Given the description of an element on the screen output the (x, y) to click on. 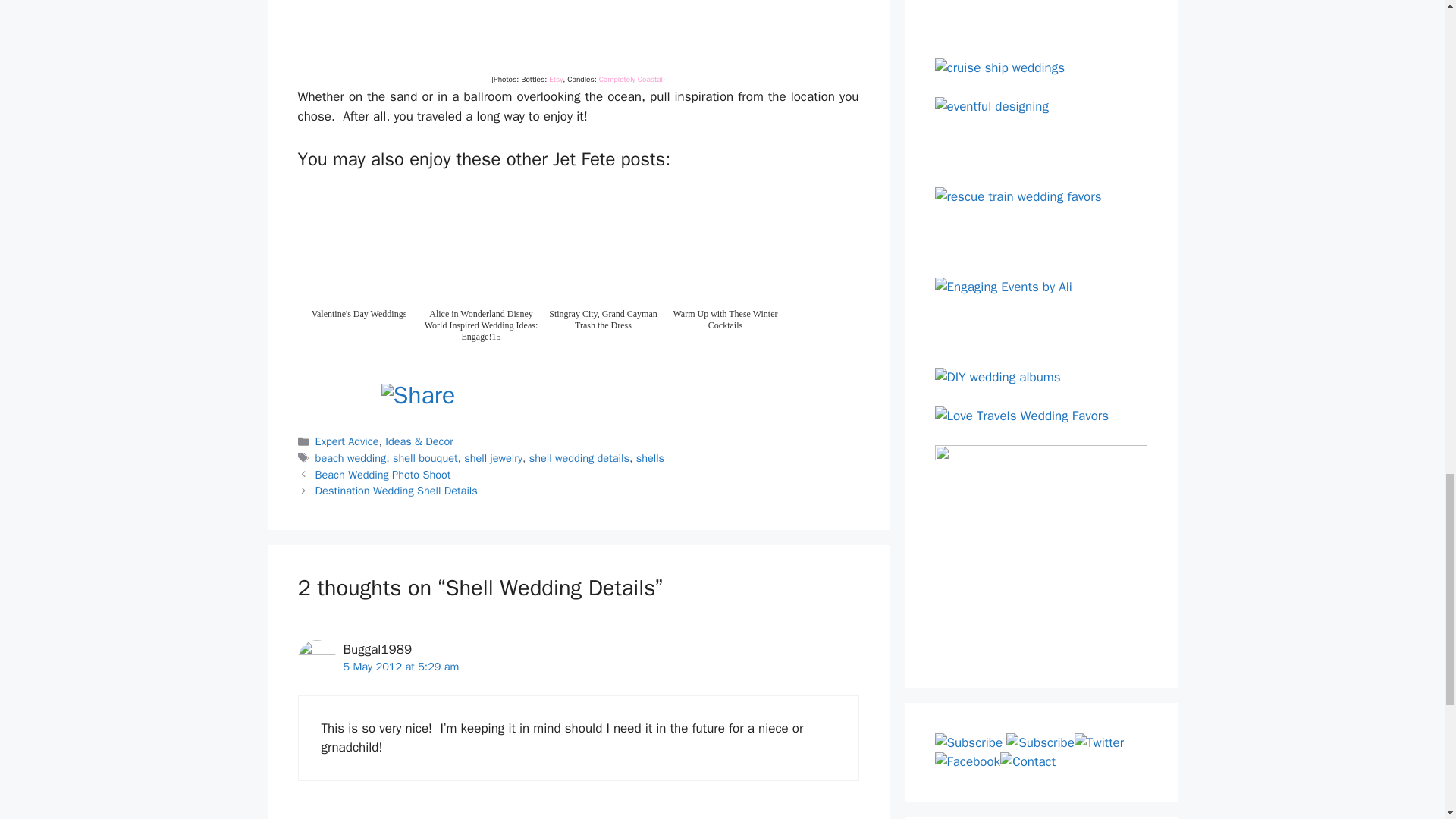
shell decor (578, 33)
Expert Advice (346, 440)
shell wedding details (578, 458)
Etsy (555, 79)
Completely Coastal (630, 79)
Destination Wedding Shell Details (396, 490)
Beach Wedding Photo Shoot (383, 474)
beach wedding (351, 458)
shell bouquet (425, 458)
shells (649, 458)
shell jewelry (493, 458)
5 May 2012 at 5:29 am (400, 666)
